Given the description of an element on the screen output the (x, y) to click on. 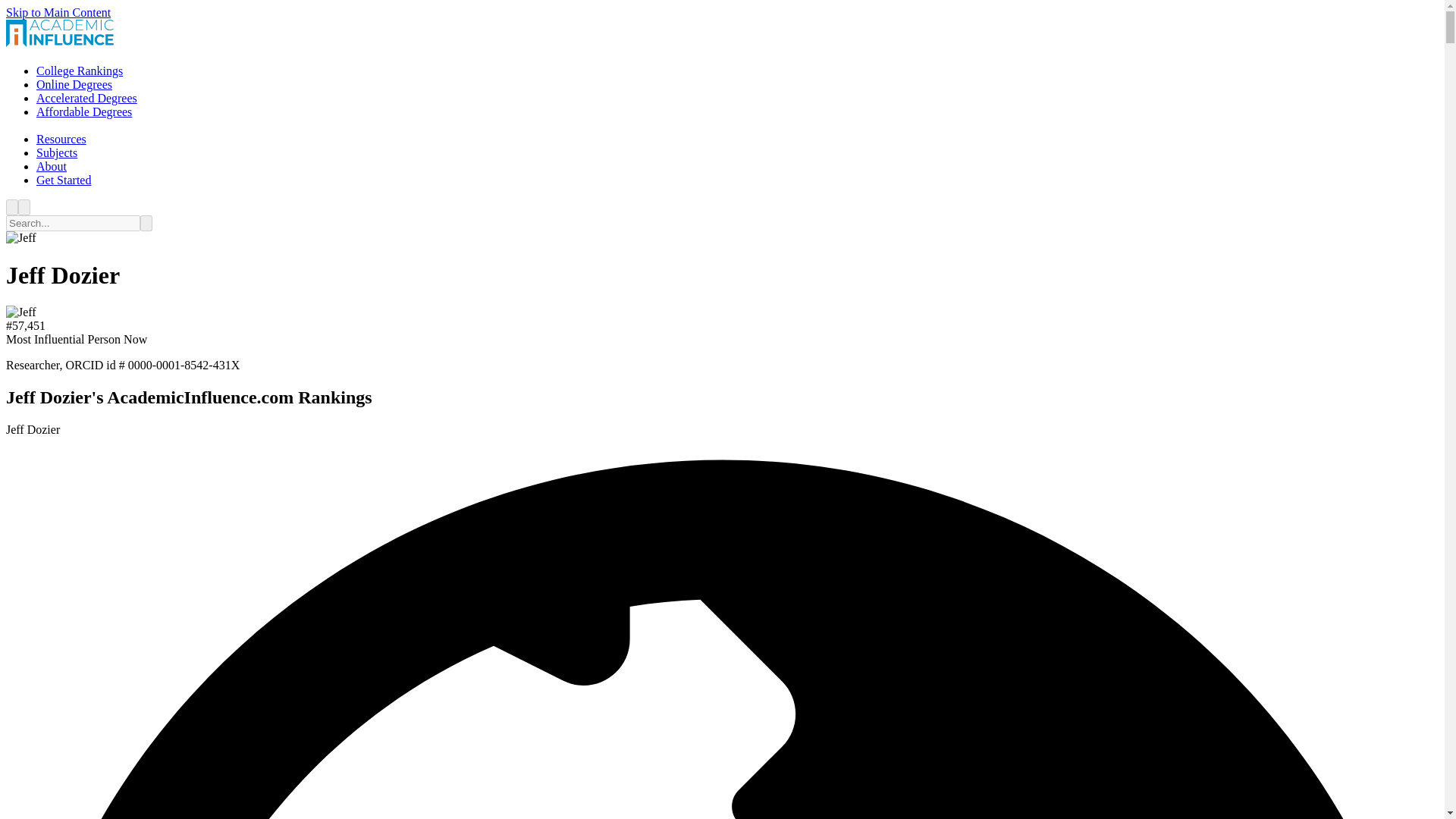
Online Degrees (74, 83)
College Rankings (79, 70)
Resources (60, 138)
Affordable Degrees (84, 111)
Subjects (56, 152)
Skip to Main Content (57, 11)
Accelerated Degrees (86, 97)
About (51, 165)
Get Started (63, 179)
